Given the description of an element on the screen output the (x, y) to click on. 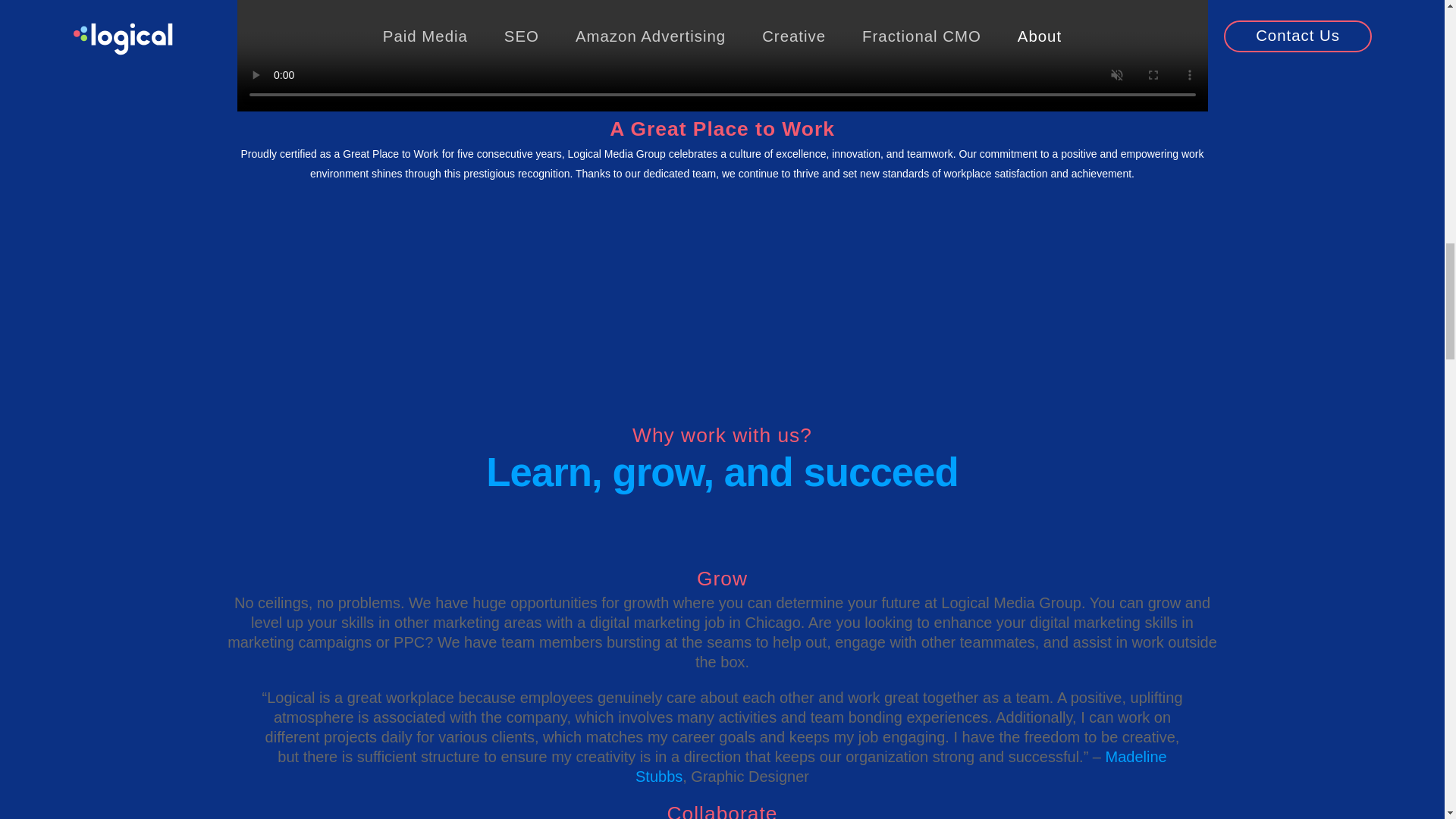
Madeline Stubbs (900, 766)
